Given the description of an element on the screen output the (x, y) to click on. 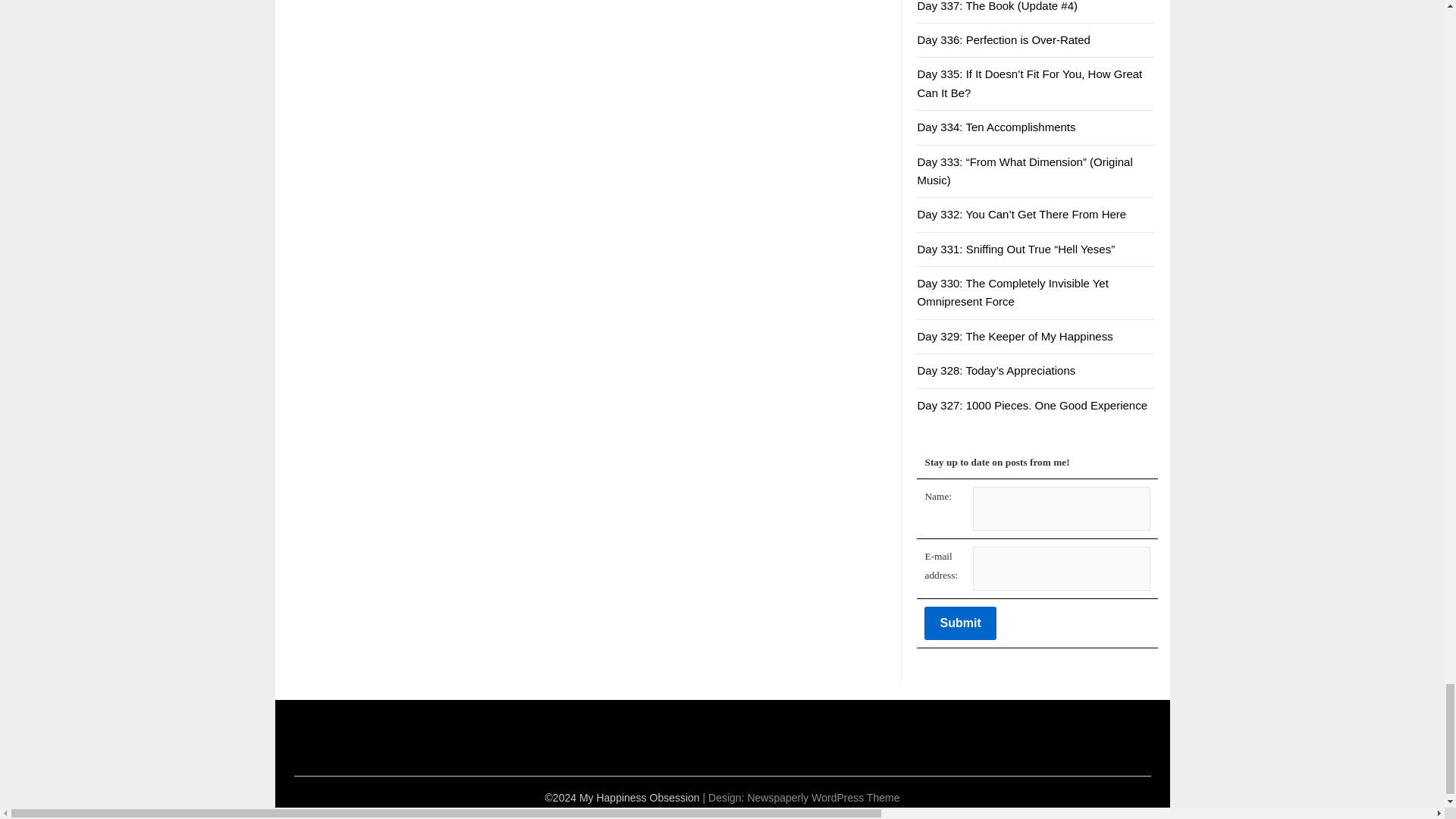
Submit (959, 622)
